Given the description of an element on the screen output the (x, y) to click on. 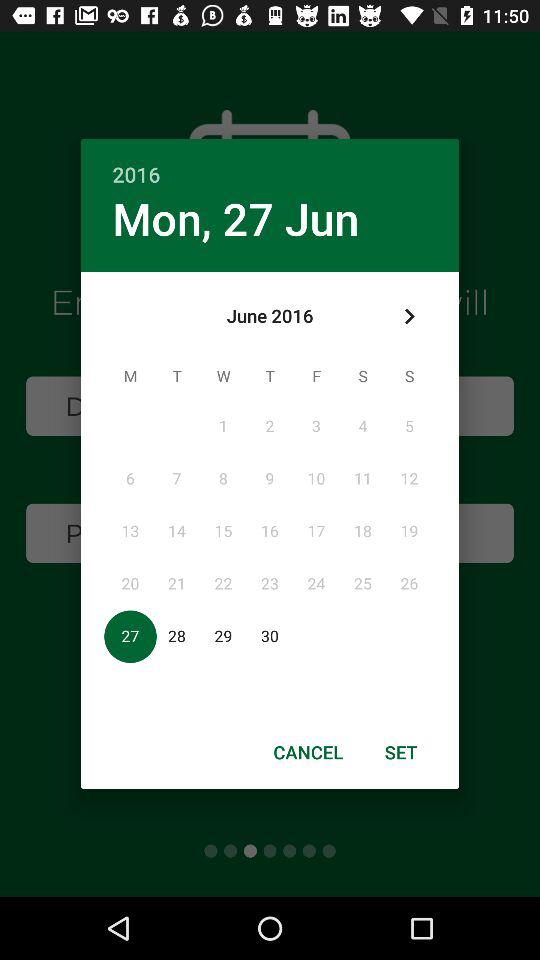
click the icon next to the cancel (401, 751)
